Given the description of an element on the screen output the (x, y) to click on. 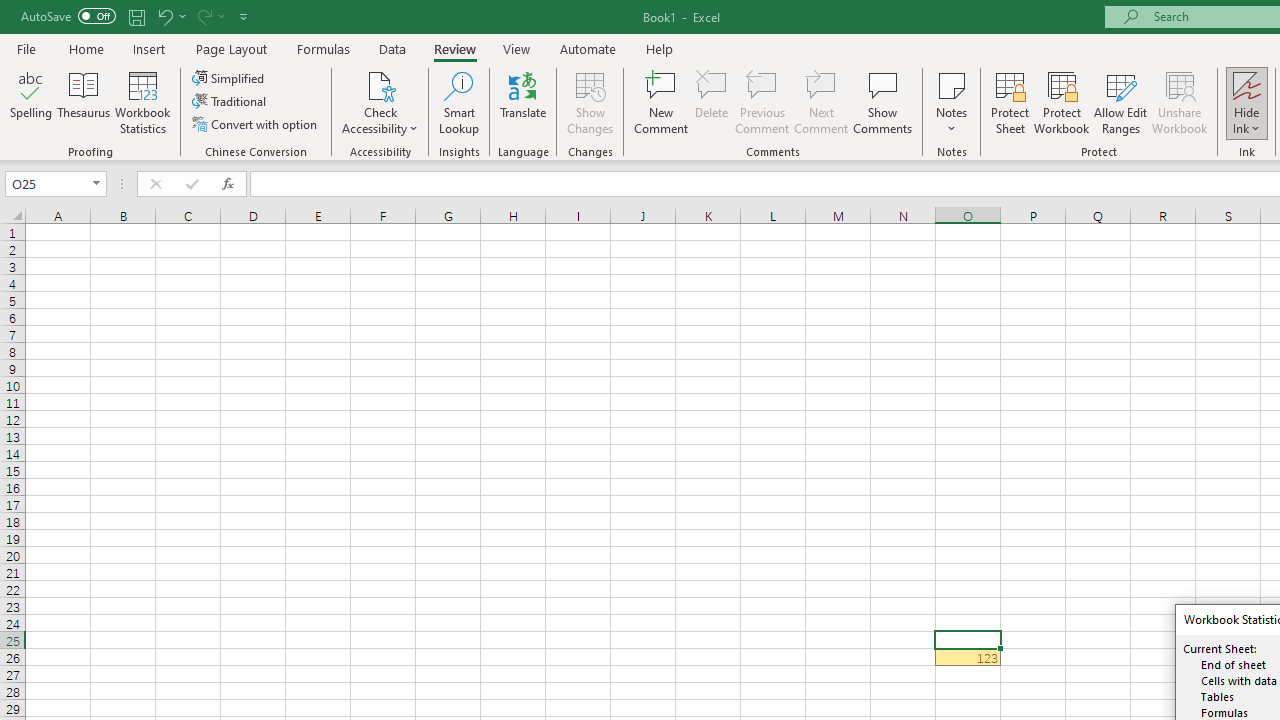
File Tab (26, 48)
Next Comment (821, 102)
Redo (209, 15)
System (10, 11)
Simplified (230, 78)
Previous Comment (762, 102)
Unshare Workbook (1179, 102)
Review (454, 48)
Spelling... (31, 102)
System (10, 11)
Open (96, 183)
Home (86, 48)
View (517, 48)
Help (660, 48)
Delete (712, 102)
